Given the description of an element on the screen output the (x, y) to click on. 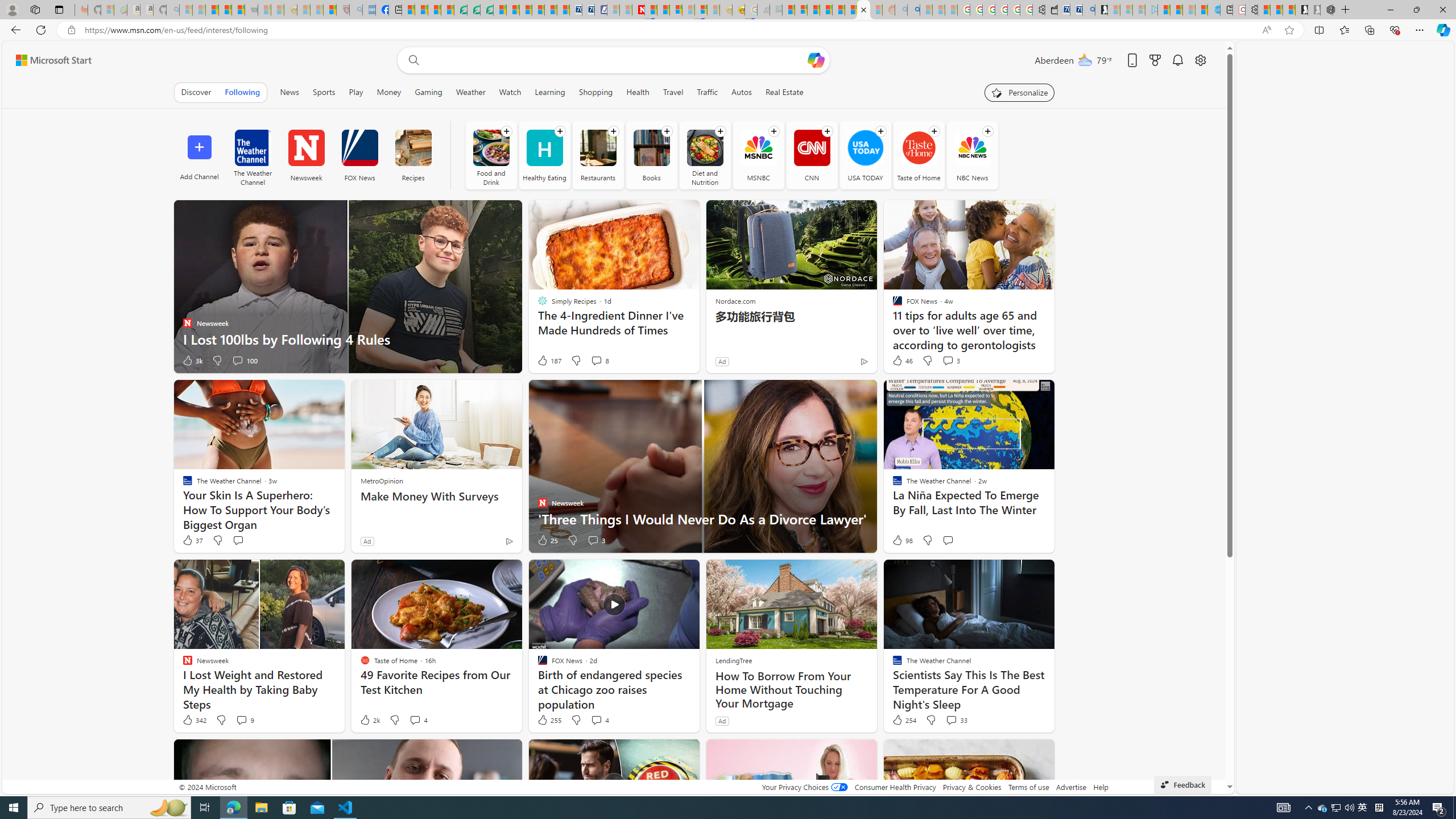
View comments 9 Comment (245, 719)
Taste of Home (918, 155)
Autos (741, 92)
Gaming (428, 92)
Cheap Hotels - Save70.com (587, 9)
25 Like (546, 539)
Personalize your feed" (1019, 92)
USA TODAY (865, 147)
Learning (549, 92)
